Given the description of an element on the screen output the (x, y) to click on. 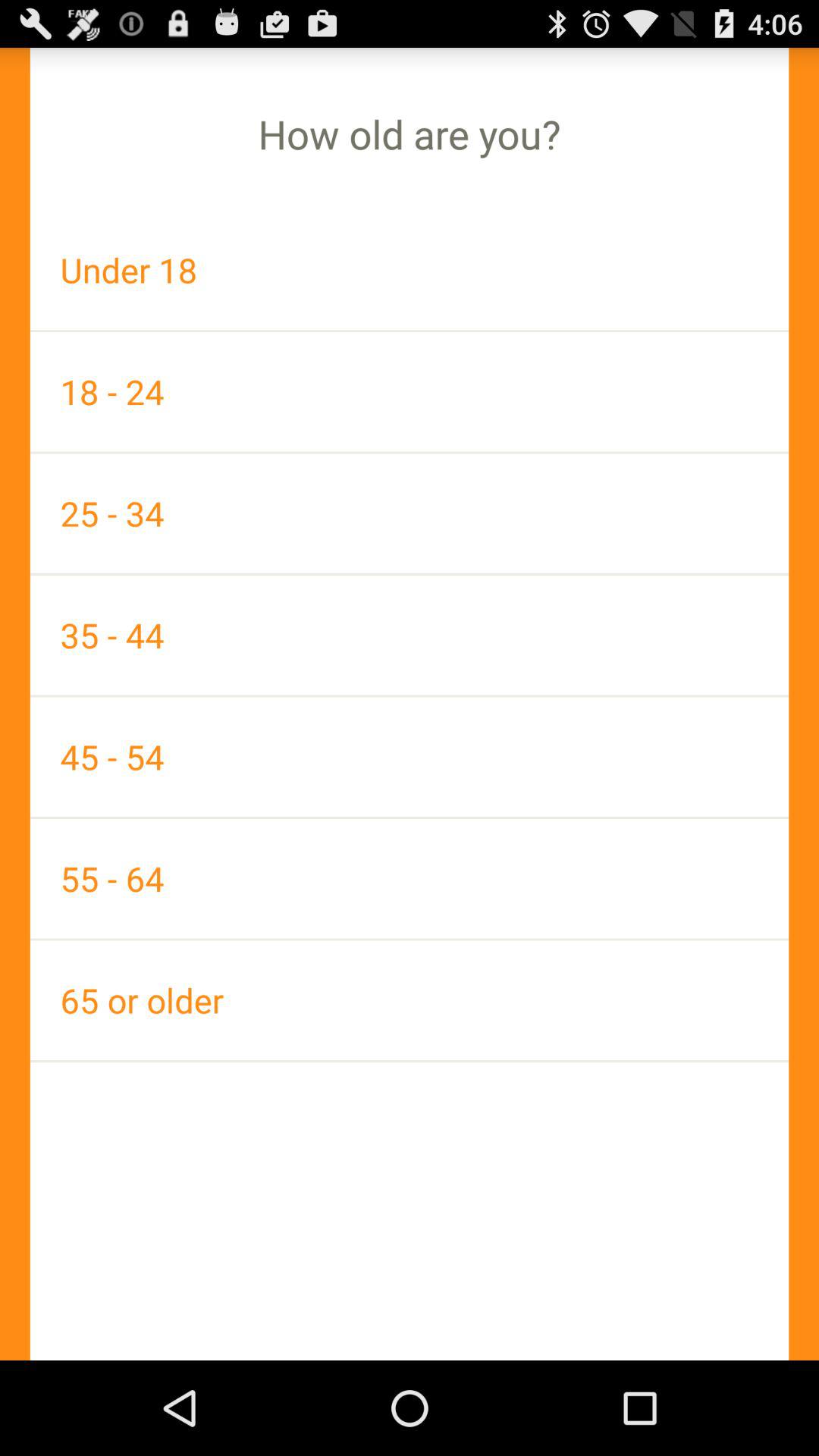
turn on the icon above 35 - 44 item (409, 513)
